Given the description of an element on the screen output the (x, y) to click on. 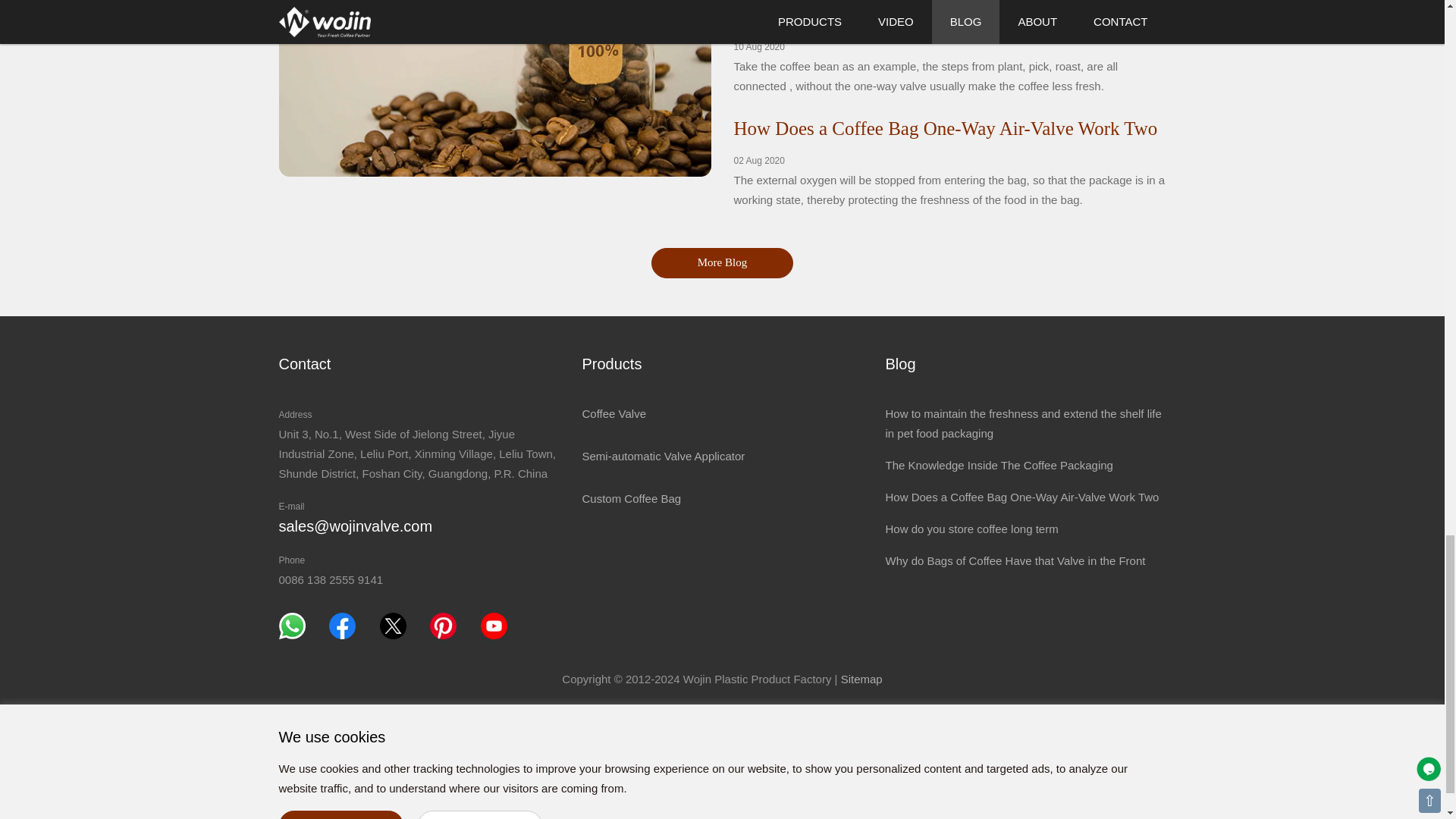
The Knowledge Inside The Coffee Packaging (906, 14)
Coffee Valve (613, 413)
How Does a Coffee Bag One-Way Air-Valve Work Two (945, 127)
Custom Coffee Bag (630, 498)
Why do Bags of Coffee Have that Valve in the Front (1014, 560)
The Knowledge Inside The Coffee Packaging (998, 464)
Sitemap (861, 678)
The Knowledge Inside The Coffee Packaging (906, 14)
How Does a Coffee Bag One-Way Air-Valve Work Two (1021, 496)
